Given the description of an element on the screen output the (x, y) to click on. 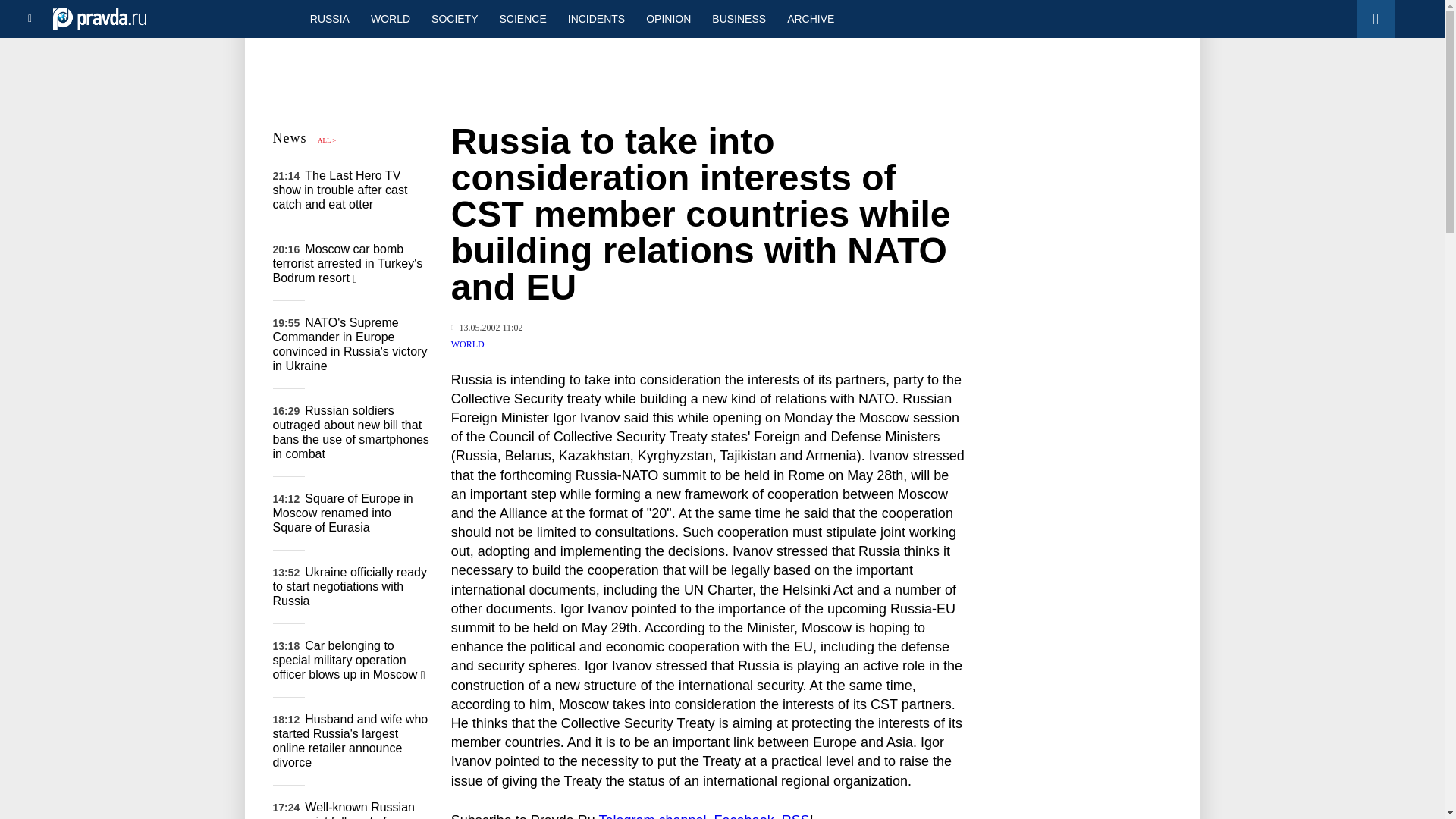
SCIENCE (523, 18)
Telegram channel (652, 816)
ARCHIVE (810, 18)
Facebook (744, 816)
WORLD (389, 18)
Moscow car bomb terrorist arrested in Turkey's Bodrum resort (348, 263)
WORLD (467, 344)
SOCIETY (453, 18)
RUSSIA (329, 18)
RSS (795, 816)
INCIDENTS (595, 18)
Published (486, 327)
Ukraine officially ready to start negotiations with Russia (349, 586)
